Given the description of an element on the screen output the (x, y) to click on. 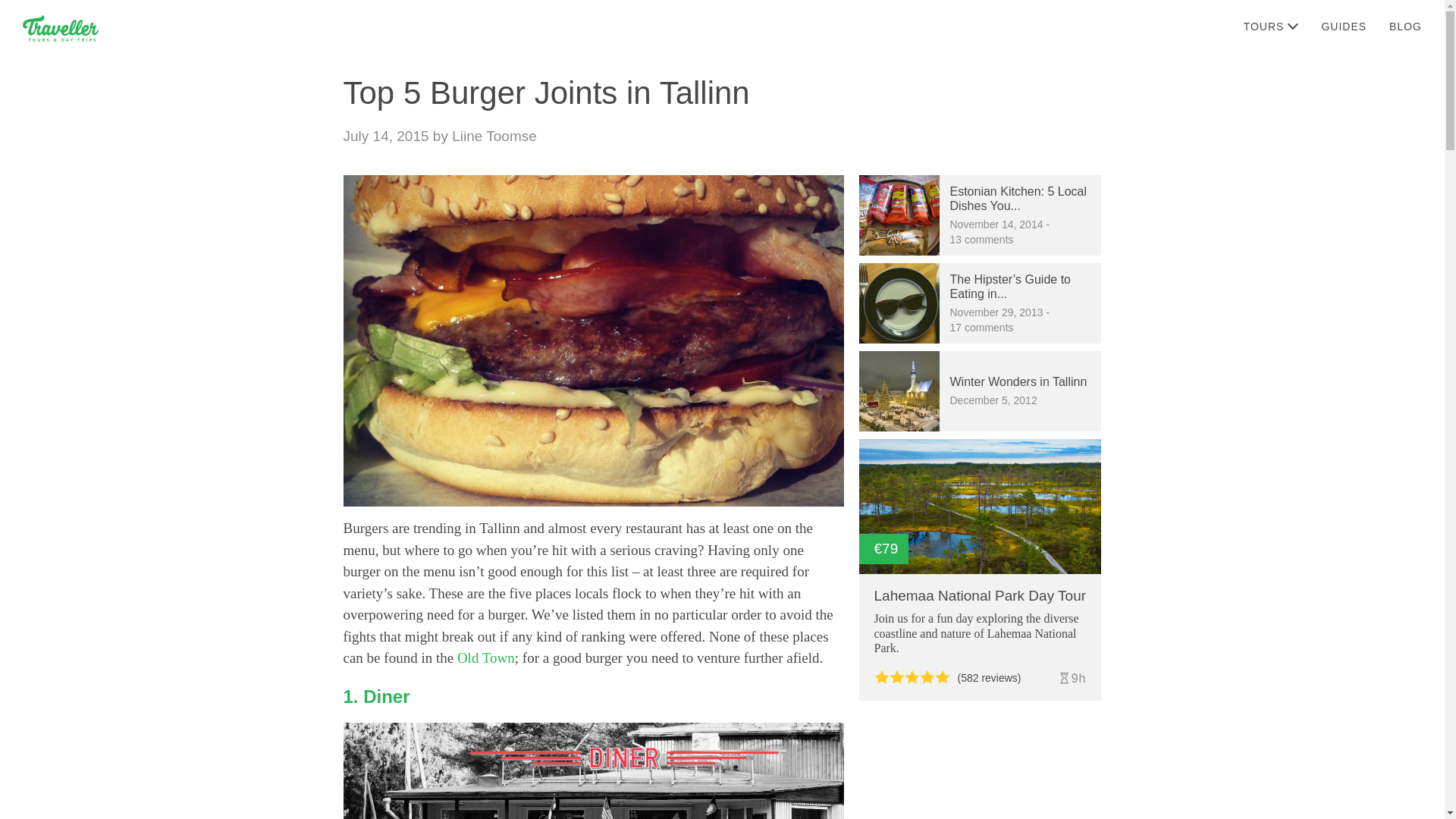
Tours (1270, 26)
Guides (1342, 26)
Traveller Tours Blog (61, 27)
Blog (1404, 26)
Old Town (486, 657)
TOURS (1270, 26)
BLOG (1404, 26)
Winter Wonders in Tallinn (899, 358)
GUIDES (1342, 26)
Liine Toomse (494, 135)
1. Diner (375, 696)
Winter Wonders in Tallinn (1017, 381)
